Given the description of an element on the screen output the (x, y) to click on. 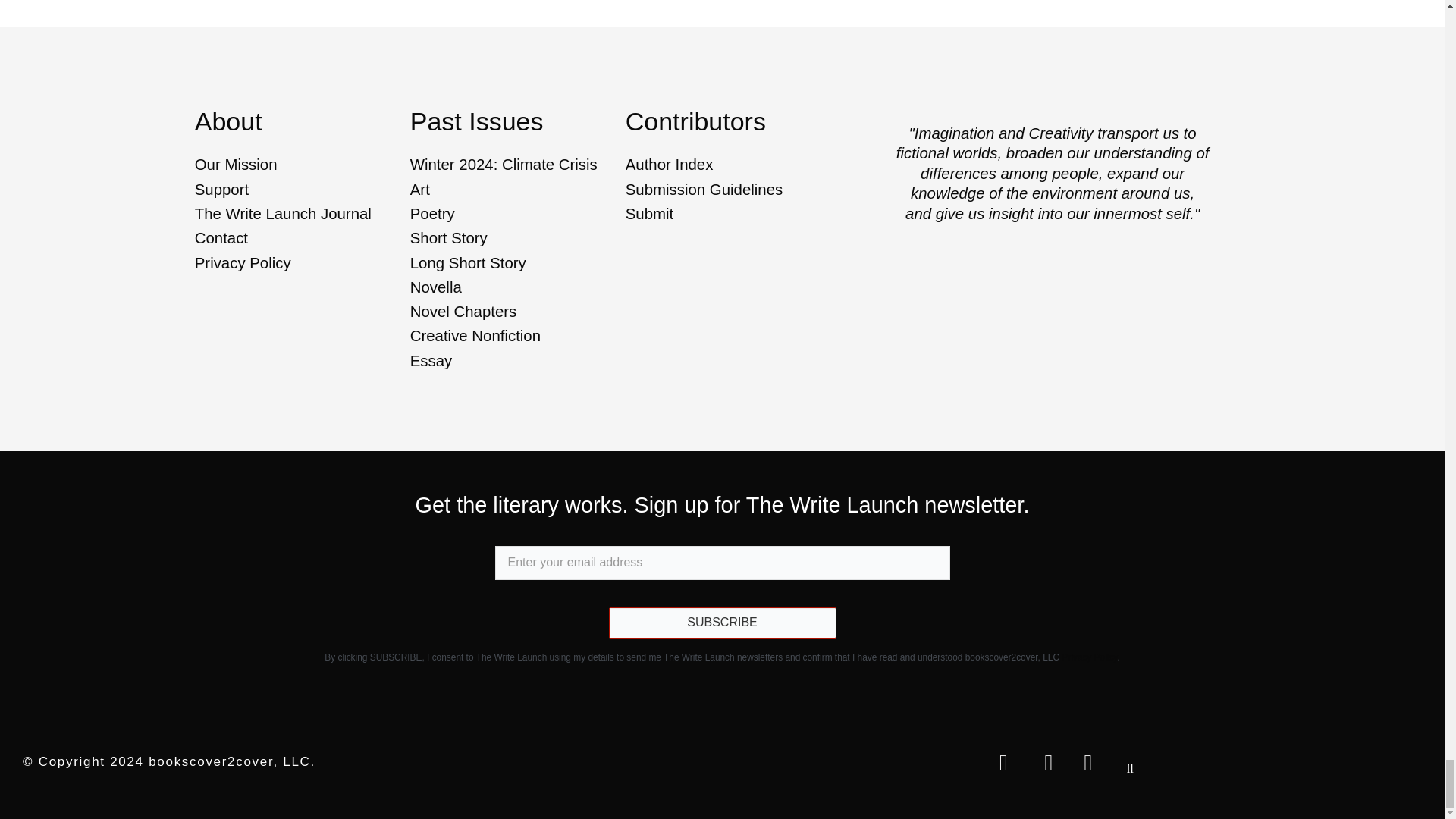
Our Mission (299, 165)
Privacy Policy (299, 262)
The Write Launch Journal (299, 213)
Subscribe (721, 622)
Art (515, 189)
Contact (299, 238)
Poetry (515, 213)
Support (299, 189)
Winter 2024: Climate Crisis (515, 165)
